Given the description of an element on the screen output the (x, y) to click on. 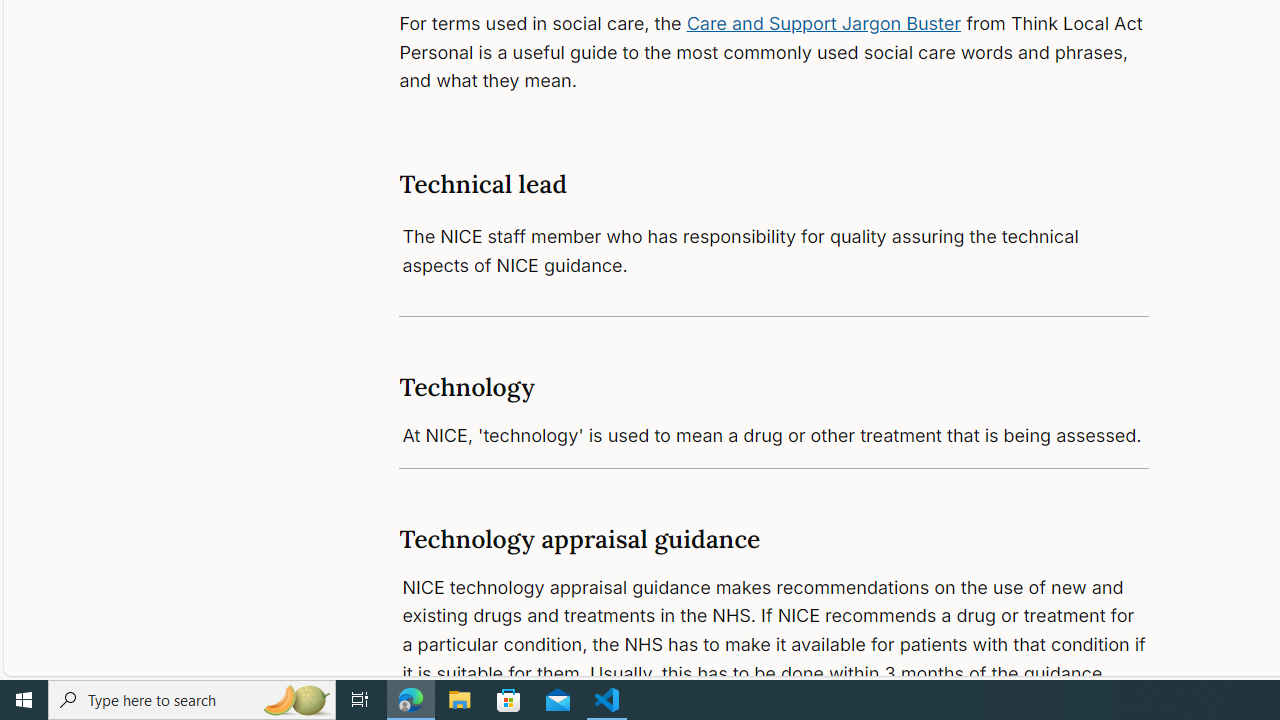
Care and Support Jargon Buster (824, 22)
